Given the description of an element on the screen output the (x, y) to click on. 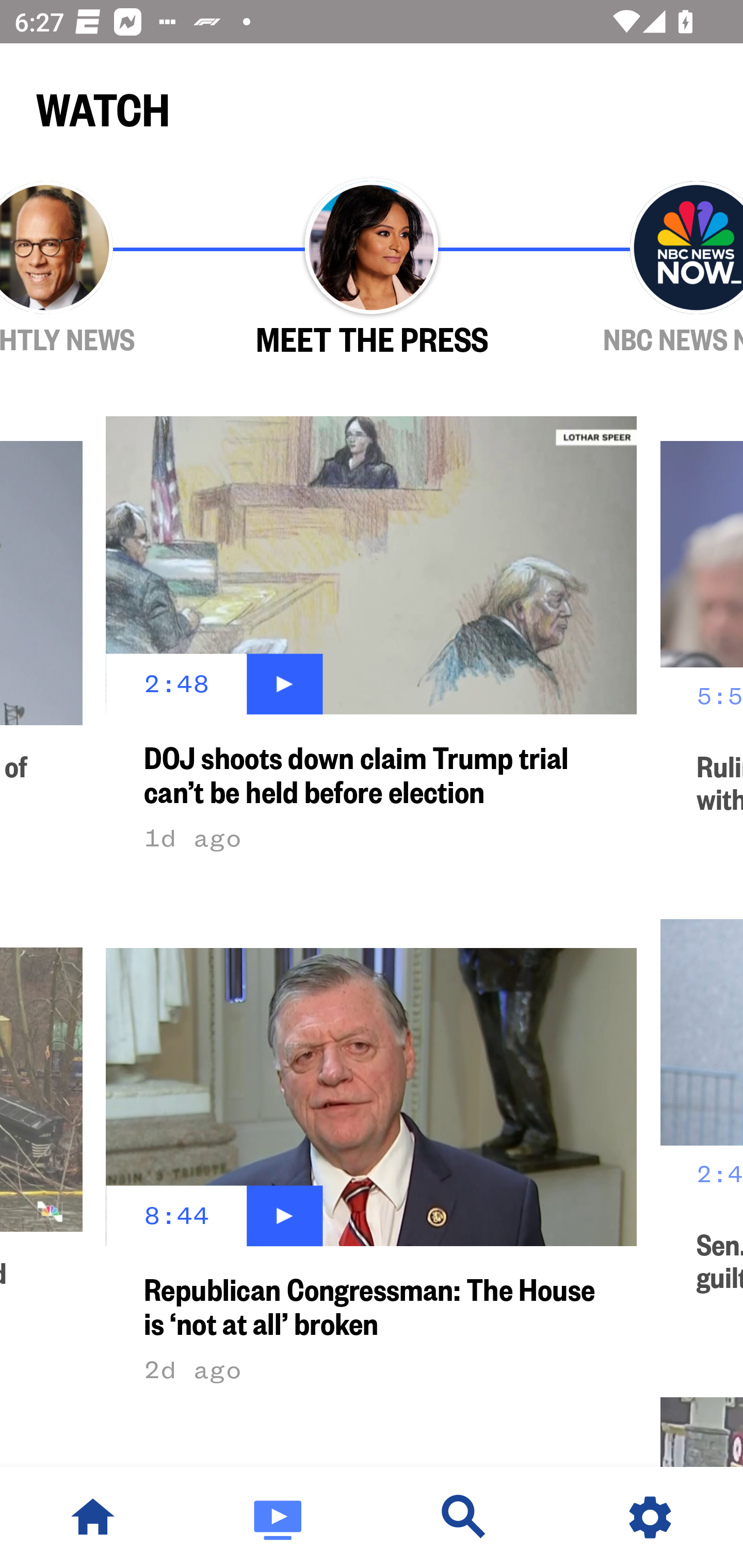
NIGHTLY NEWS (104, 268)
MEET THE PRESS (371, 268)
NBC NEWS NOW (638, 268)
NBC News Home (92, 1517)
Discover (464, 1517)
Settings (650, 1517)
